Given the description of an element on the screen output the (x, y) to click on. 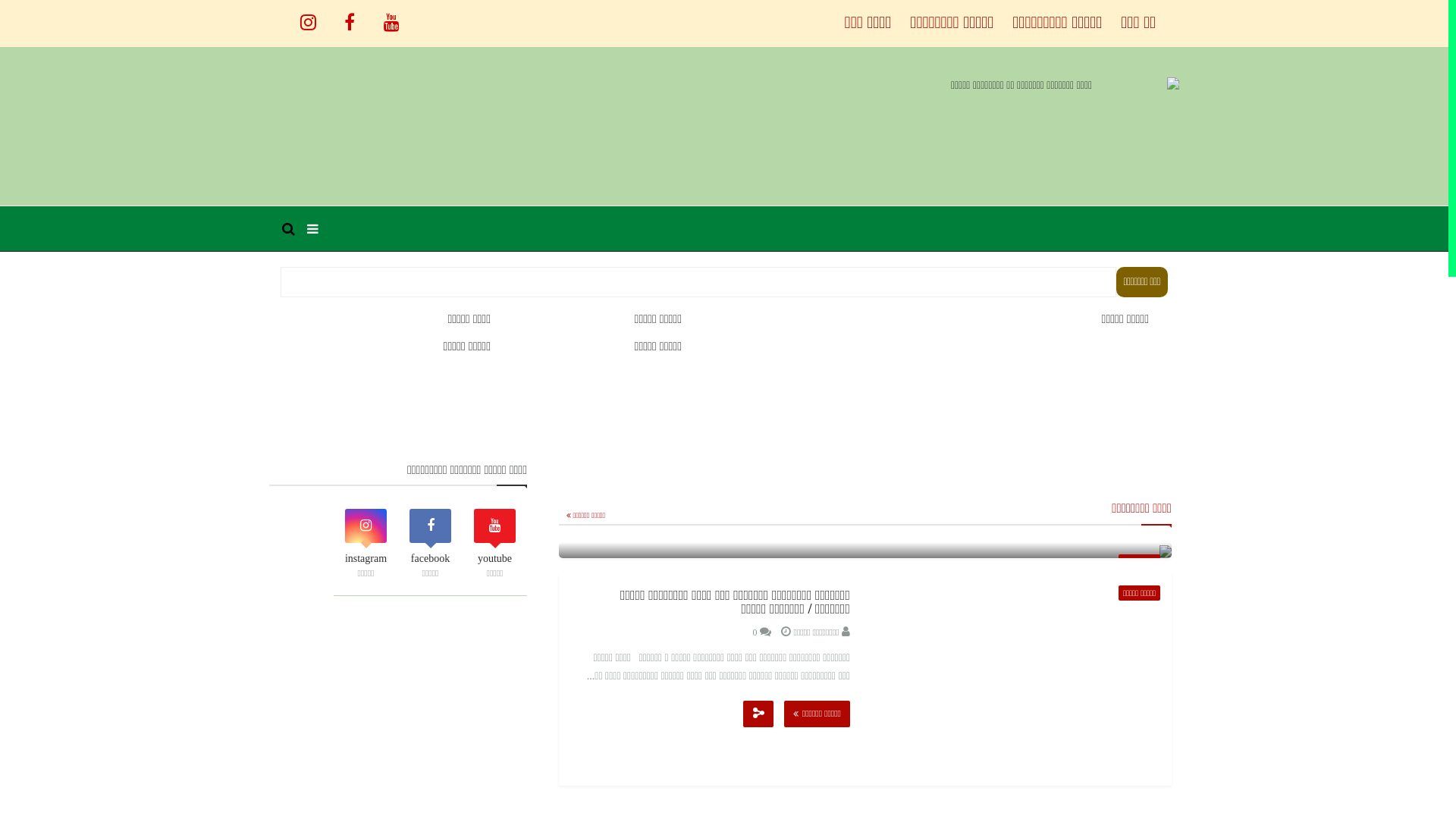
instagram Element type: hover (307, 14)
0 Element type: text (762, 632)
Advertisement Element type: hover (398, 709)
facebook Element type: hover (349, 14)
youtube Element type: hover (391, 14)
